Given the description of an element on the screen output the (x, y) to click on. 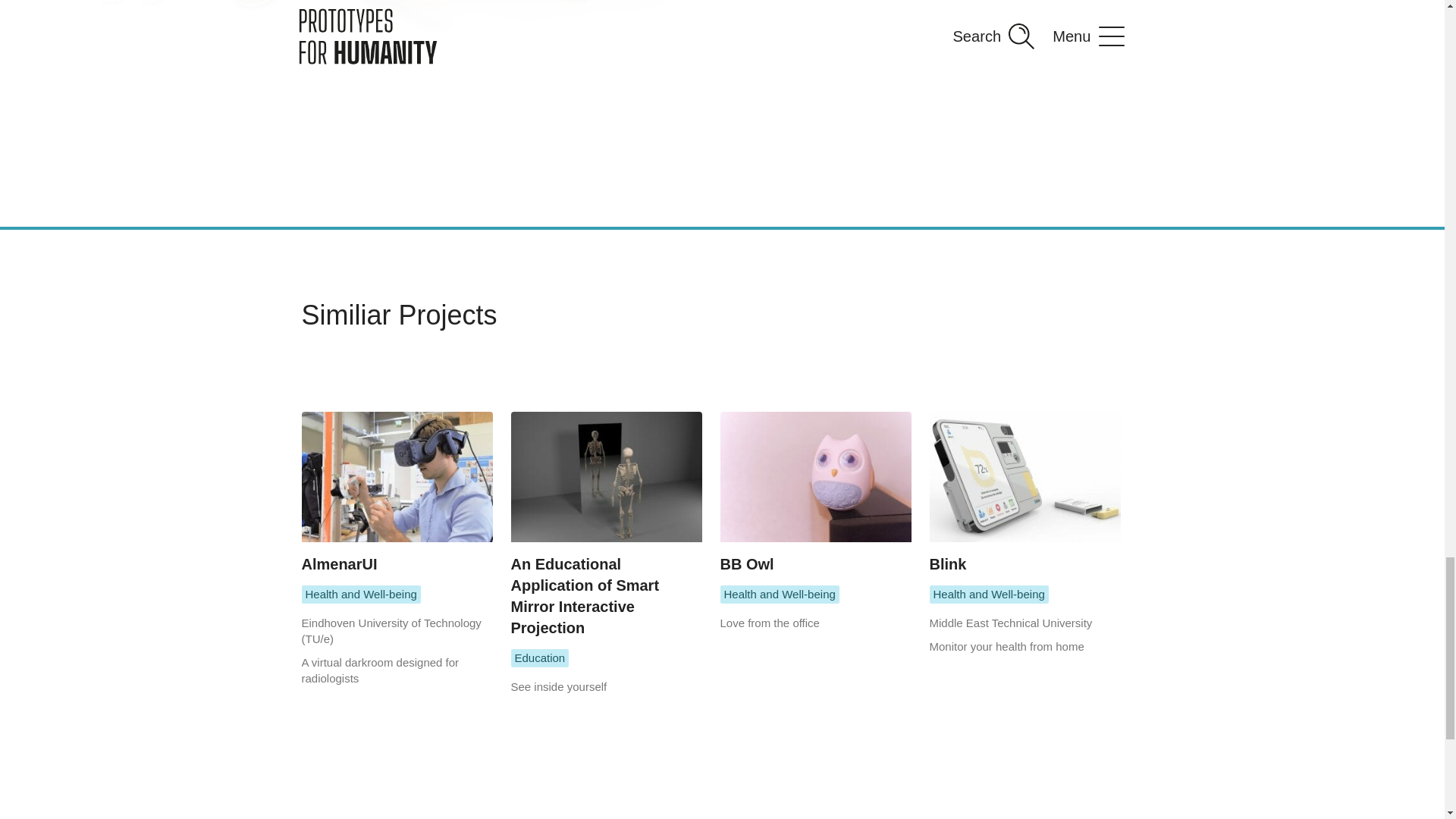
Health and Well-being (360, 594)
Blink (1025, 492)
Middle East Technical University (1011, 622)
Health and Well-being (989, 594)
BB Owl (815, 492)
Health and Well-being (780, 594)
AlmenarUI (397, 492)
Education (540, 658)
